Given the description of an element on the screen output the (x, y) to click on. 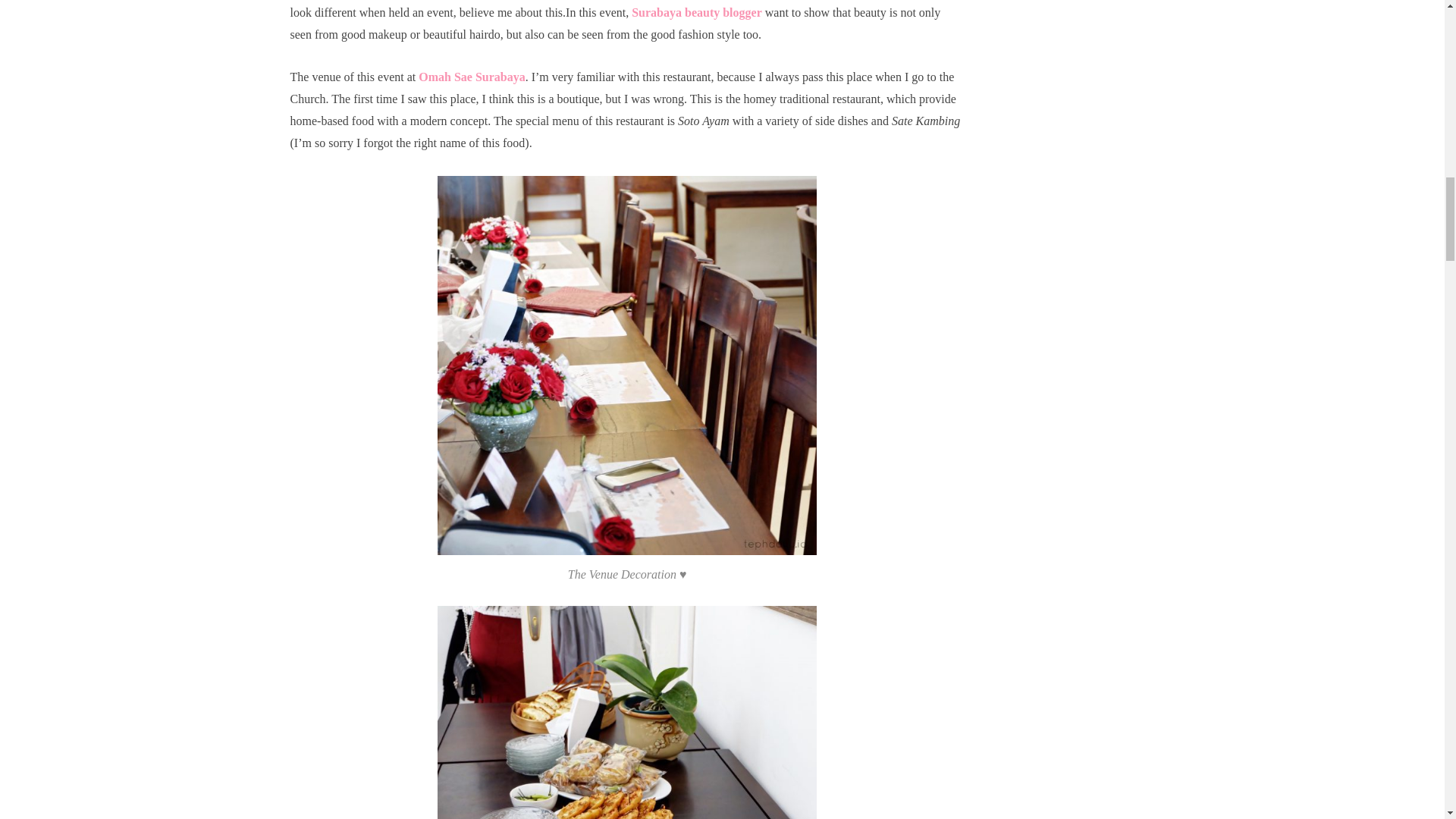
Omah Sae Surabaya (471, 76)
Surabaya beauty blogger (696, 11)
